Given the description of an element on the screen output the (x, y) to click on. 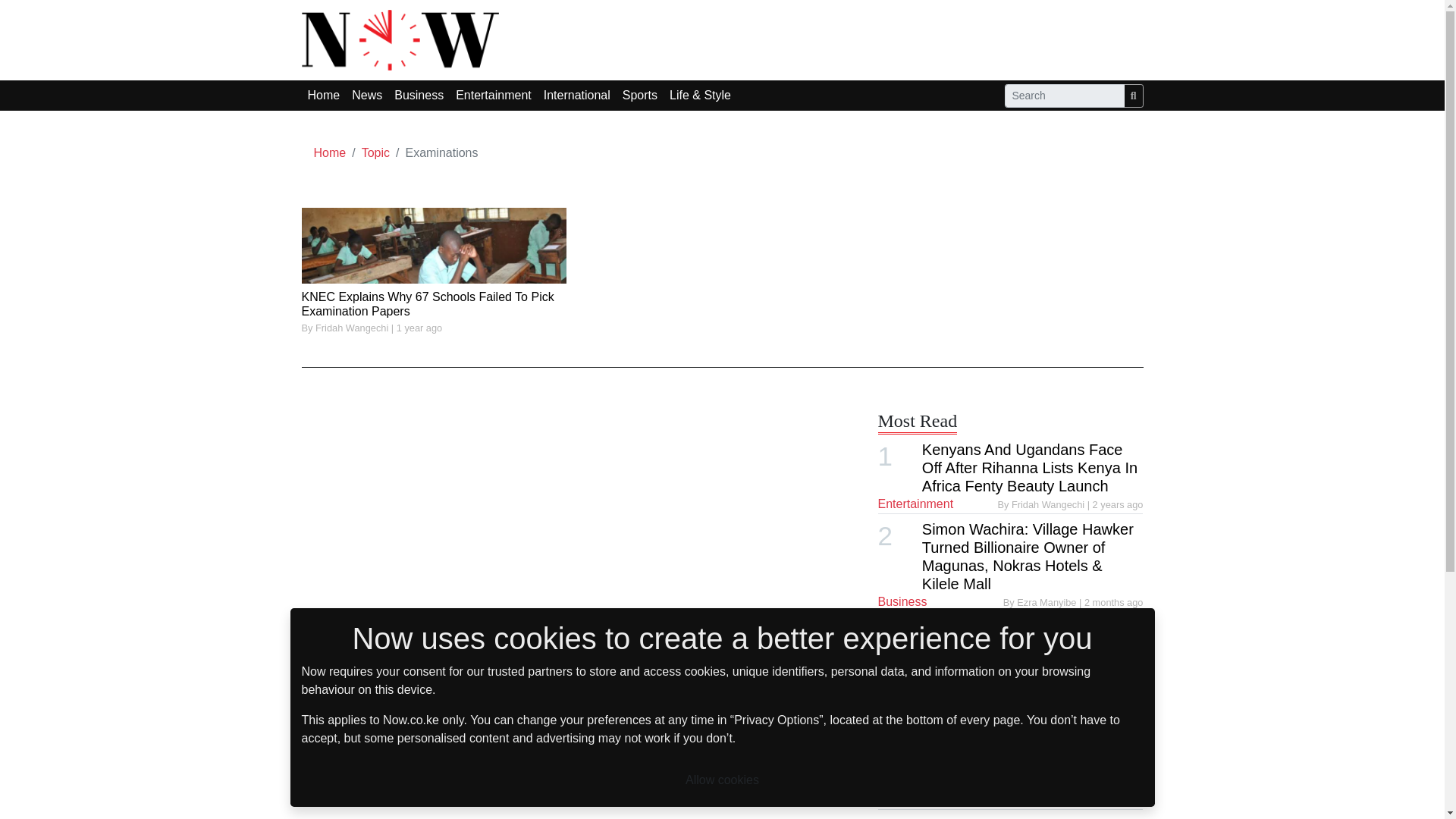
Ezra Manyibe (1047, 743)
Business (418, 95)
Fridah Wangechi (1049, 504)
Fridah Wangechi (353, 327)
Achieng Mary (1056, 799)
Home (330, 152)
akirimi (1072, 663)
News (892, 799)
News (367, 95)
Business (902, 601)
Ezra Manyibe (1047, 602)
News (892, 742)
Entertainment (915, 503)
